Given the description of an element on the screen output the (x, y) to click on. 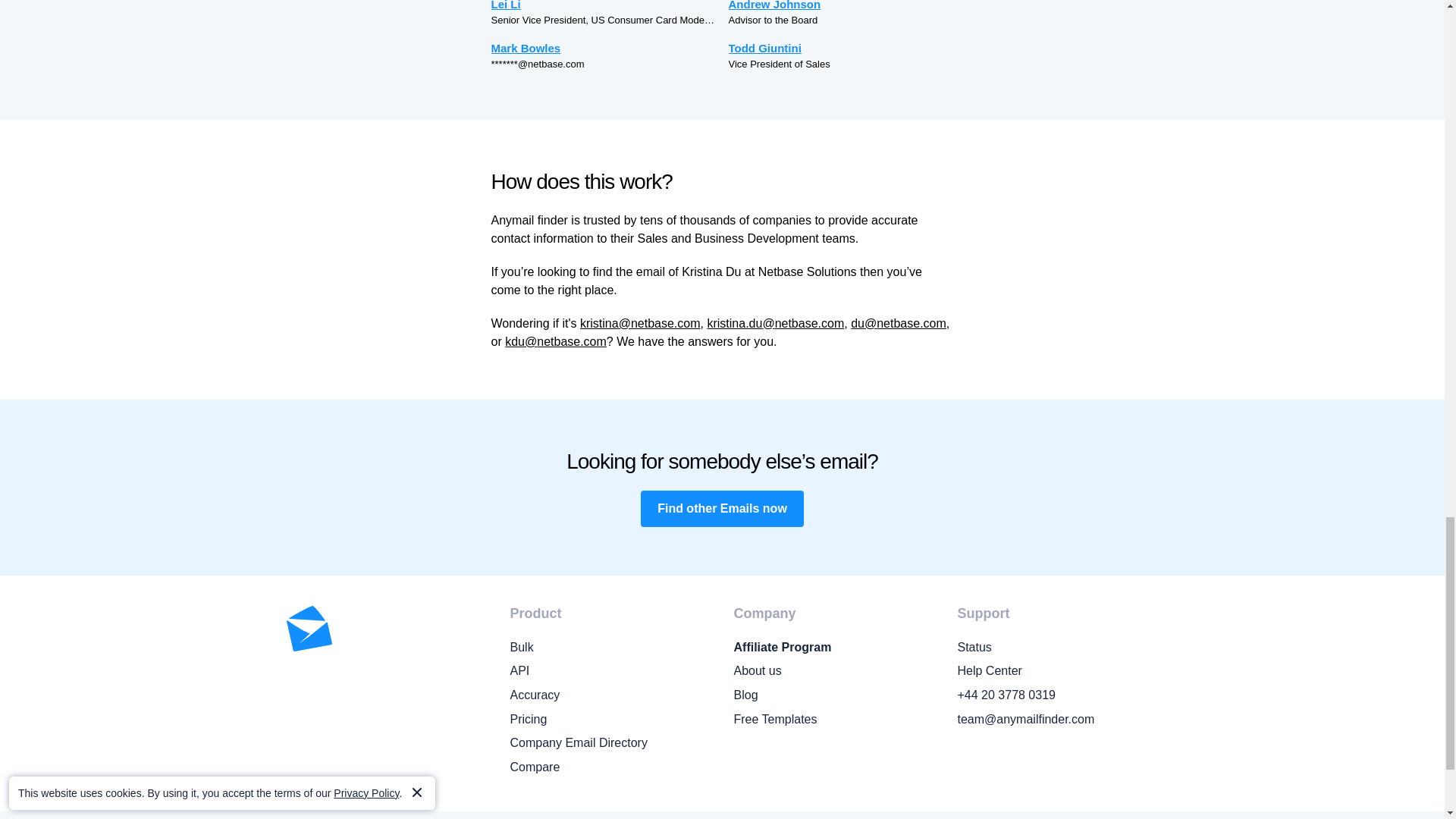
Bulk (609, 647)
Compare (609, 767)
Todd Giuntini (840, 47)
Status (1056, 647)
Help Center (1056, 670)
Andrew Johnson (840, 6)
Pricing (609, 719)
Mark Bowles (604, 47)
Find other Emails now (721, 508)
API (609, 670)
Company Email Directory (609, 742)
Free Templates (833, 719)
Affiliate Program (833, 647)
Accuracy (609, 695)
Lei Li (604, 6)
